Given the description of an element on the screen output the (x, y) to click on. 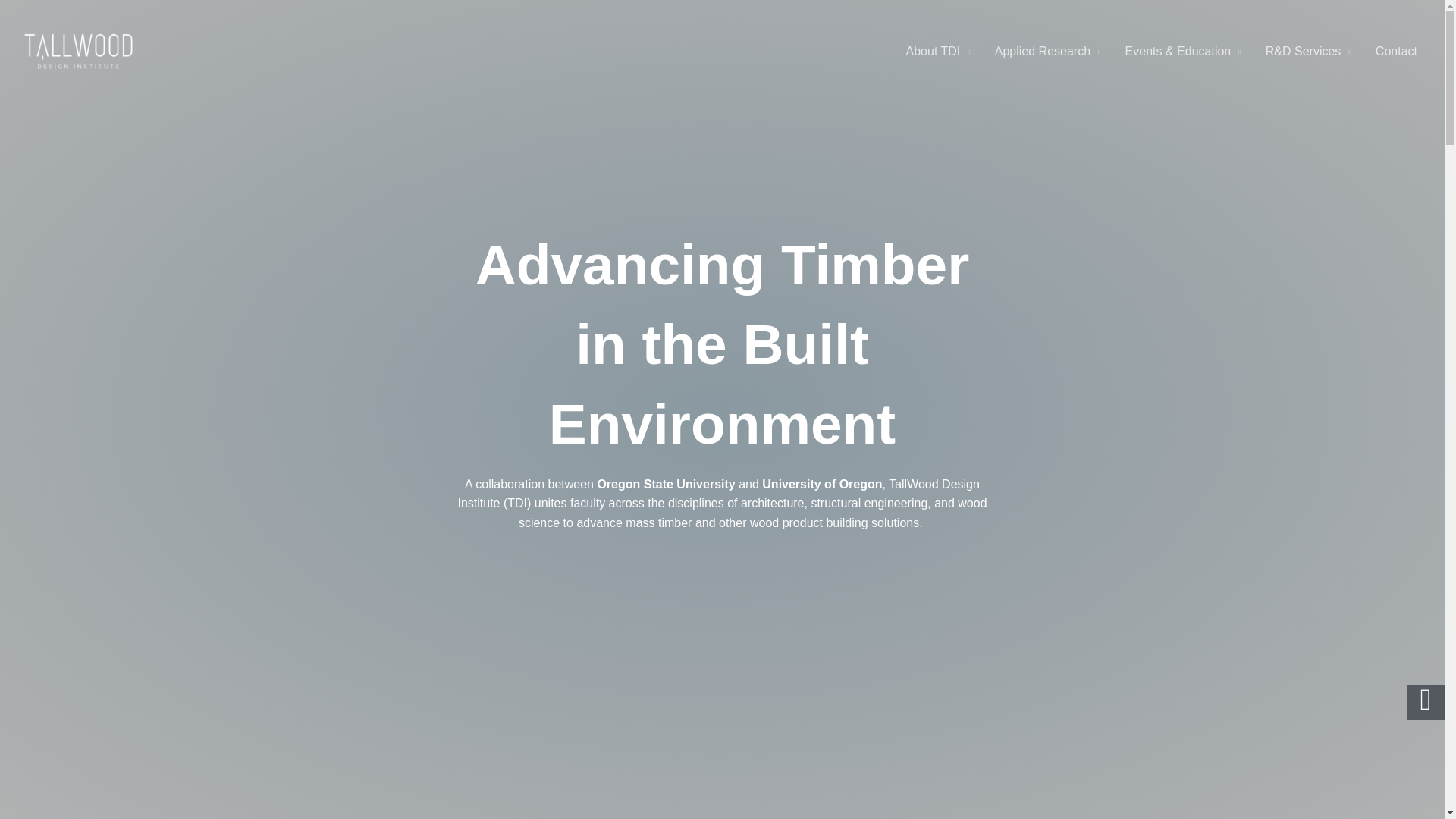
About TDI (937, 51)
Applied Research (1047, 51)
Contact (1395, 51)
